Given the description of an element on the screen output the (x, y) to click on. 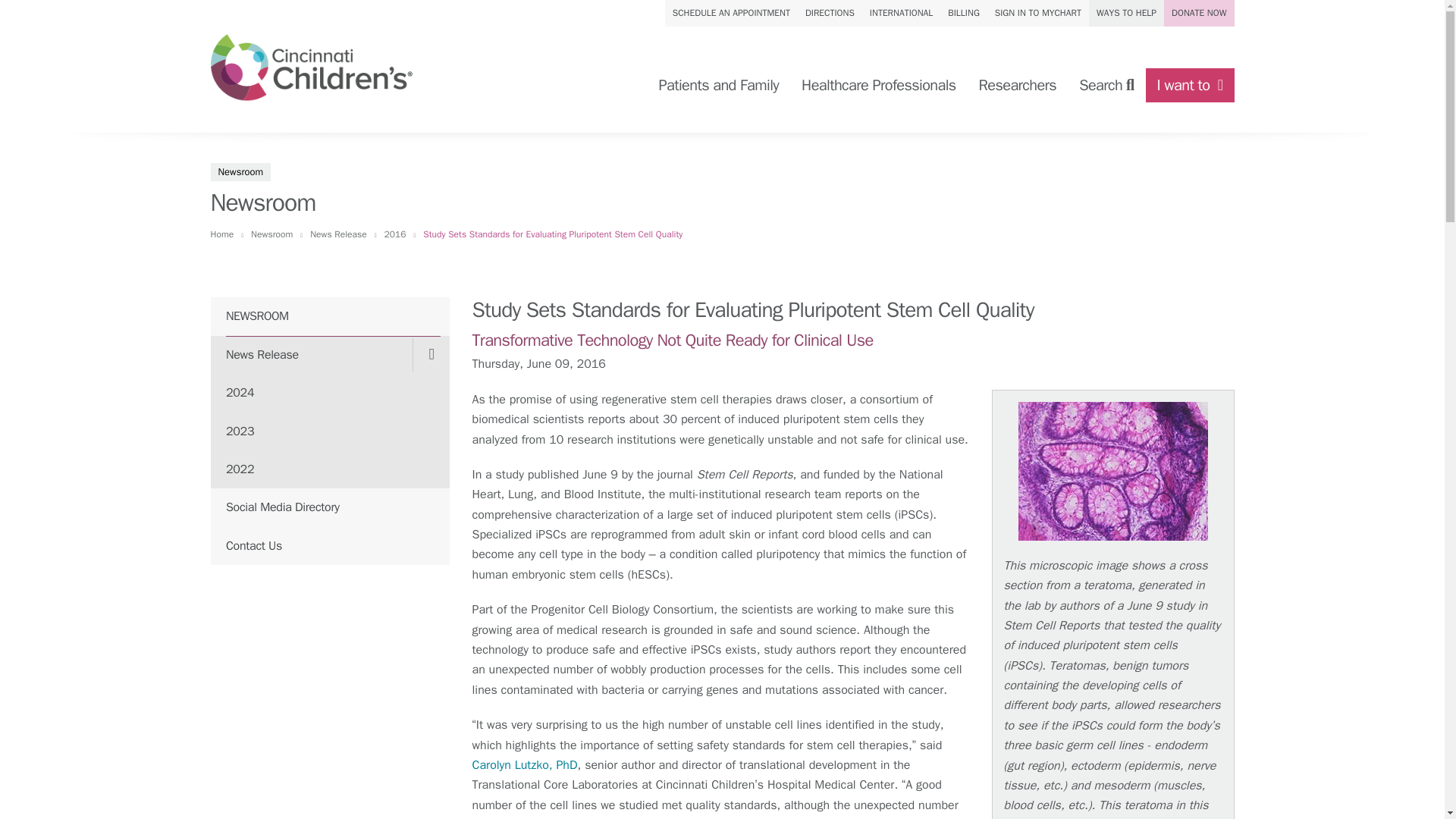
DONATE NOW (1198, 13)
Schedule an appointment.  (731, 13)
Give now to Cincinnati Children's (1198, 13)
Healthcare Professionals (878, 84)
Resources for international patients.  (900, 13)
SCHEDULE AN APPOINTMENT (731, 13)
BILLING (963, 13)
INTERNATIONAL (900, 13)
Researchers (1018, 84)
SIGN IN TO MYCHART (1038, 13)
View locations and directions.  (829, 13)
Patients and Family (718, 84)
WAYS TO HELP (1126, 13)
Pay Your Bill. (963, 13)
DIRECTIONS (829, 13)
